Given the description of an element on the screen output the (x, y) to click on. 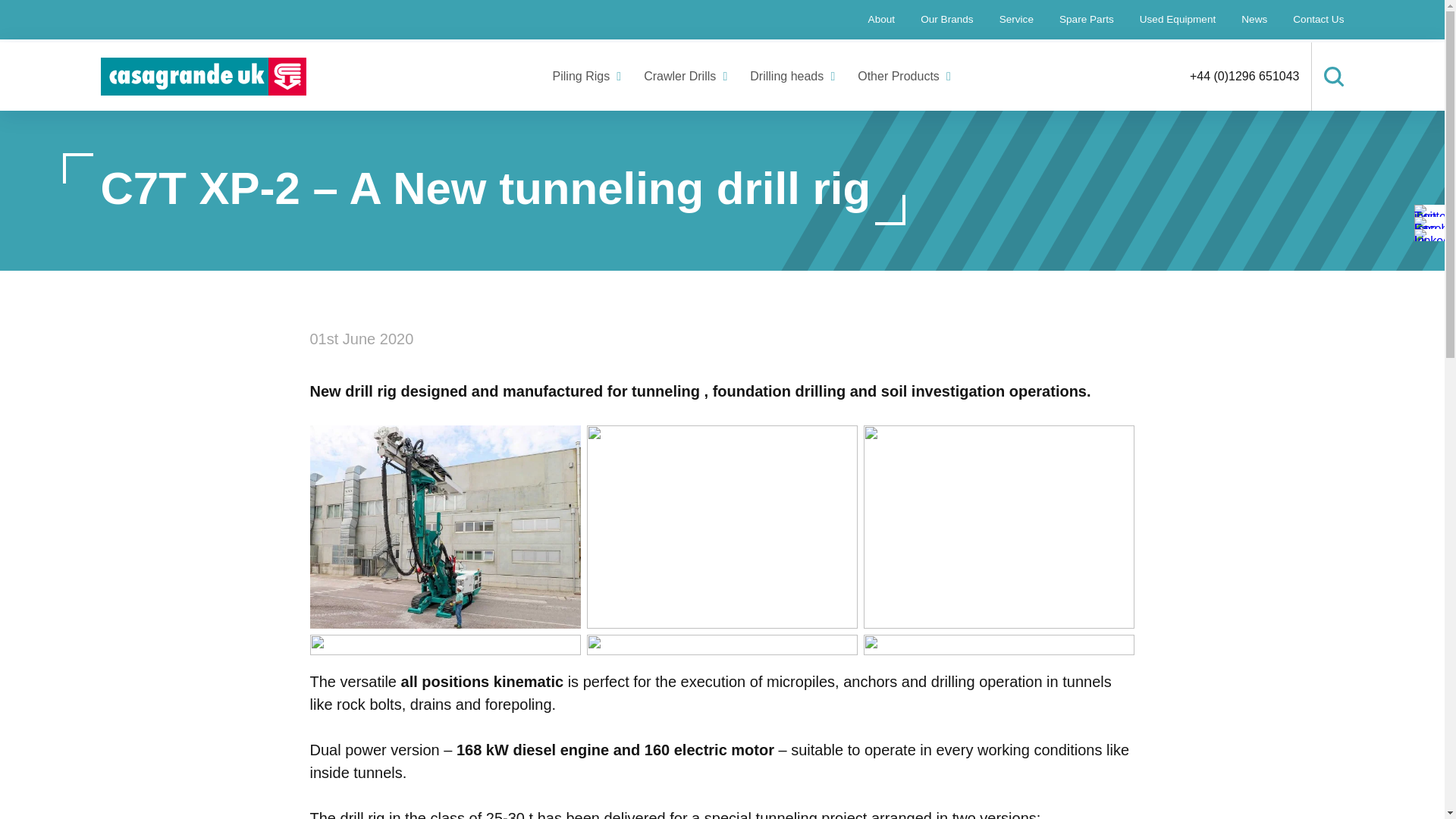
Our Brands (947, 18)
Contact Us (1311, 18)
Piling Rigs (582, 76)
Spare Parts (1086, 18)
About (882, 18)
Used Equipment (1177, 18)
News (1253, 18)
Service (1016, 18)
